Given the description of an element on the screen output the (x, y) to click on. 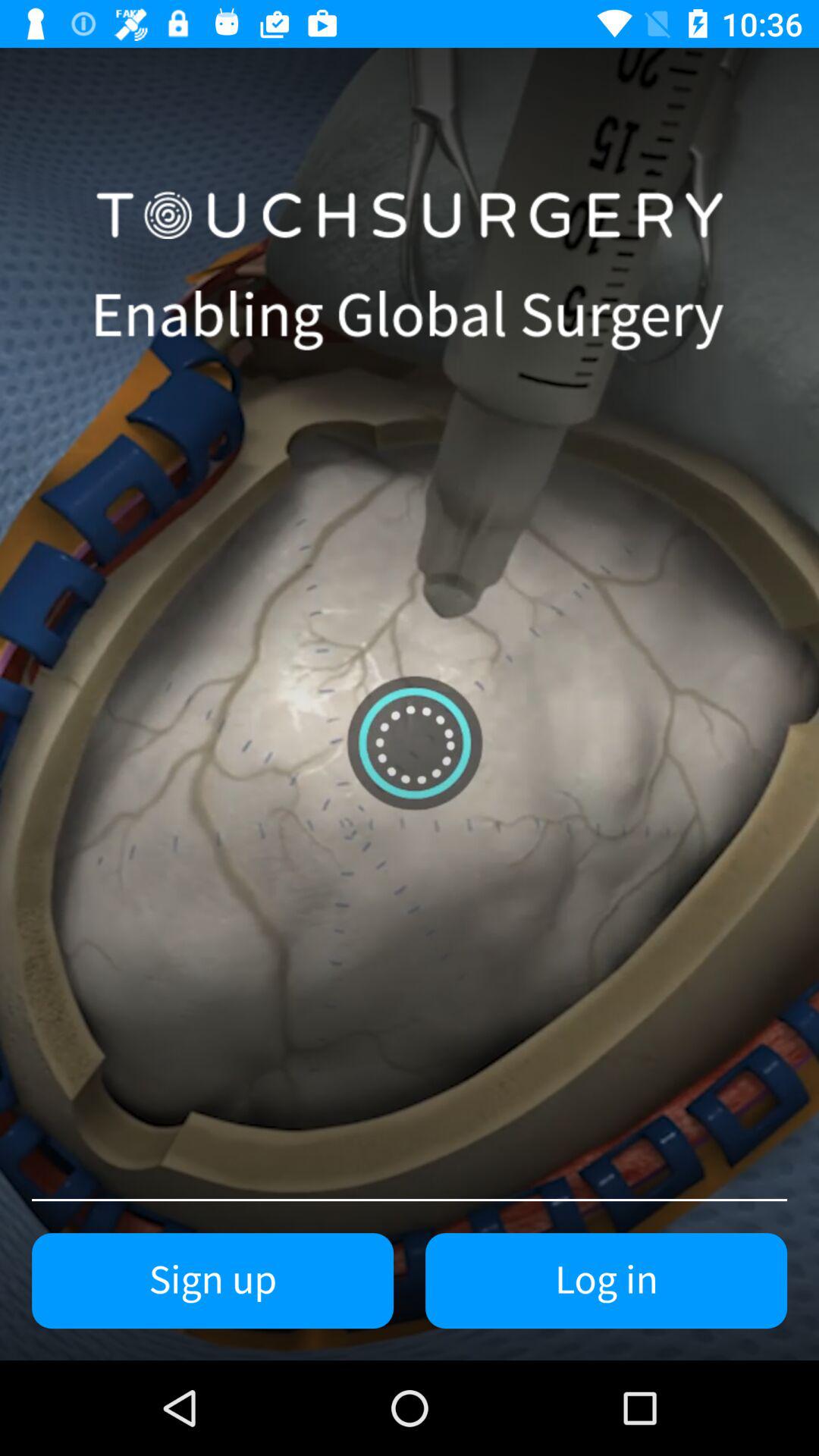
select the item to the right of the sign up (606, 1280)
